Given the description of an element on the screen output the (x, y) to click on. 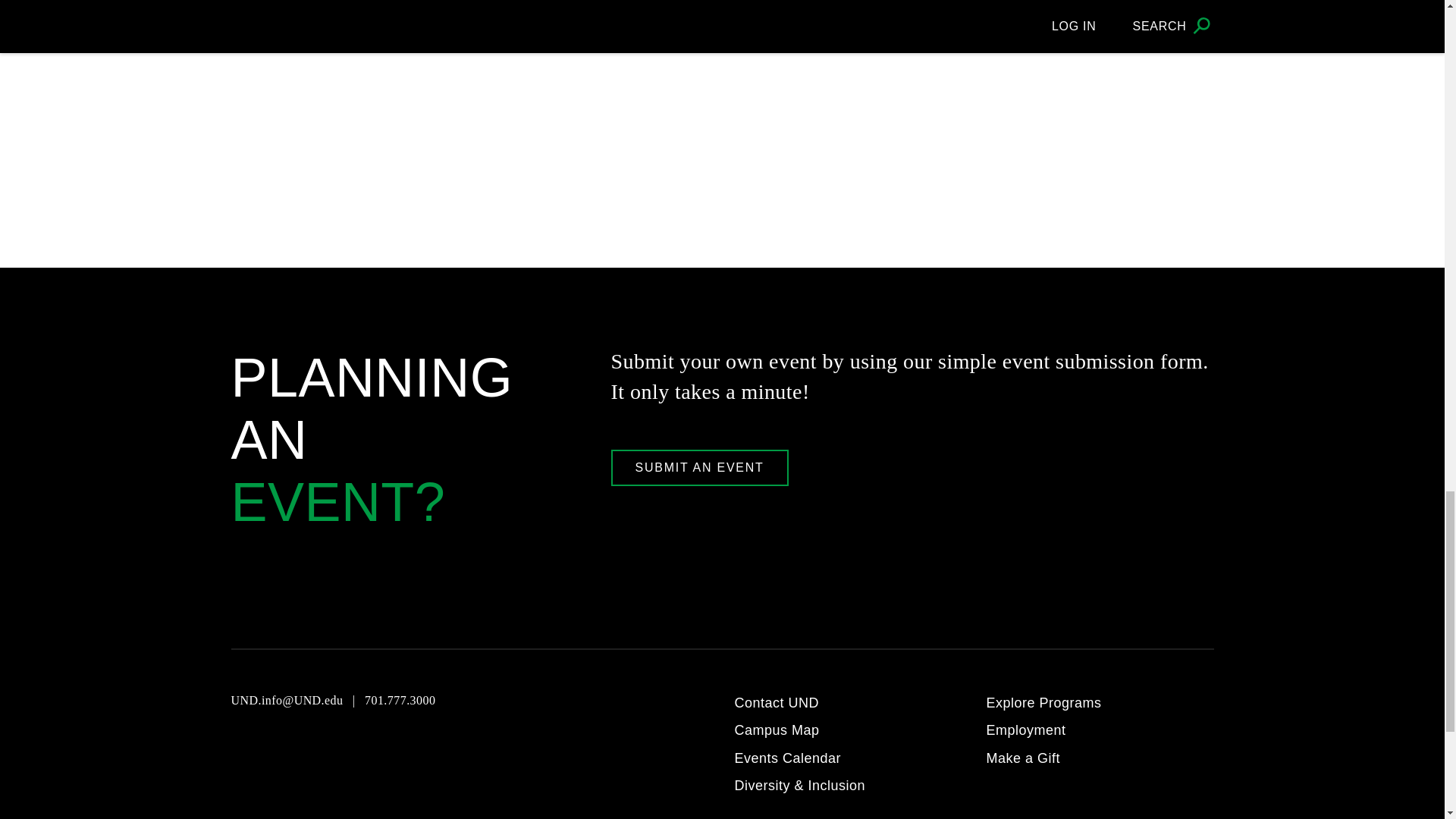
Facebook (315, 743)
LinkedIn (389, 743)
SUBMIT AN EVENT (700, 467)
Twitter (352, 743)
701.777.3000 (400, 699)
Instagram (277, 743)
YouTube (240, 743)
